Given the description of an element on the screen output the (x, y) to click on. 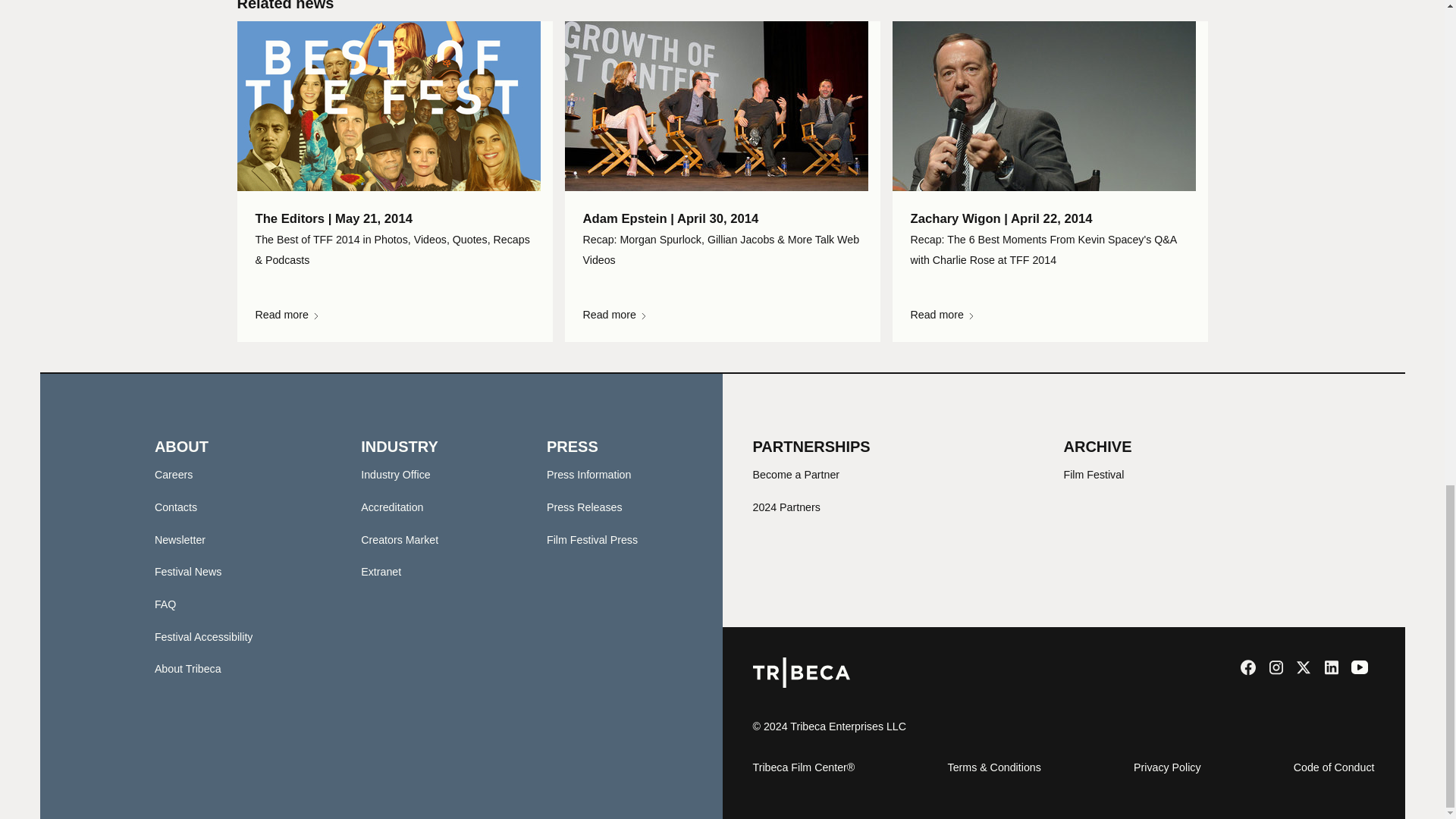
FAQ (165, 604)
Read more (721, 315)
Read more (1049, 315)
Careers (173, 474)
Contacts (175, 507)
Festival Accessibility (203, 636)
About Tribeca (187, 668)
Newsletter (179, 539)
Read more (393, 315)
Festival News (188, 571)
